Given the description of an element on the screen output the (x, y) to click on. 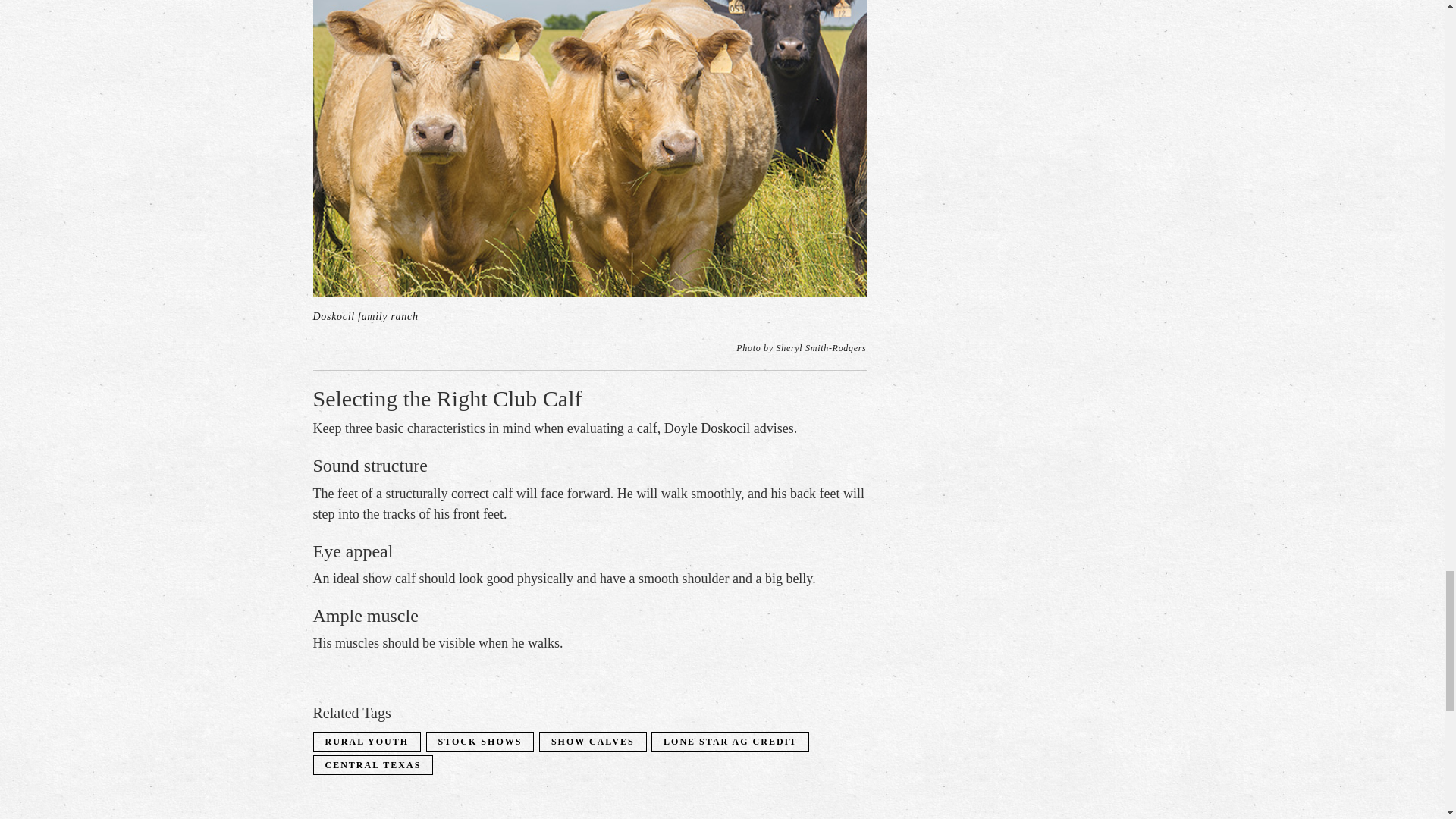
STOCK SHOWS (480, 741)
CENTRAL TEXAS (372, 765)
LONE STAR AG CREDIT (729, 741)
SHOW CALVES (592, 741)
RURAL YOUTH (366, 741)
